Given the description of an element on the screen output the (x, y) to click on. 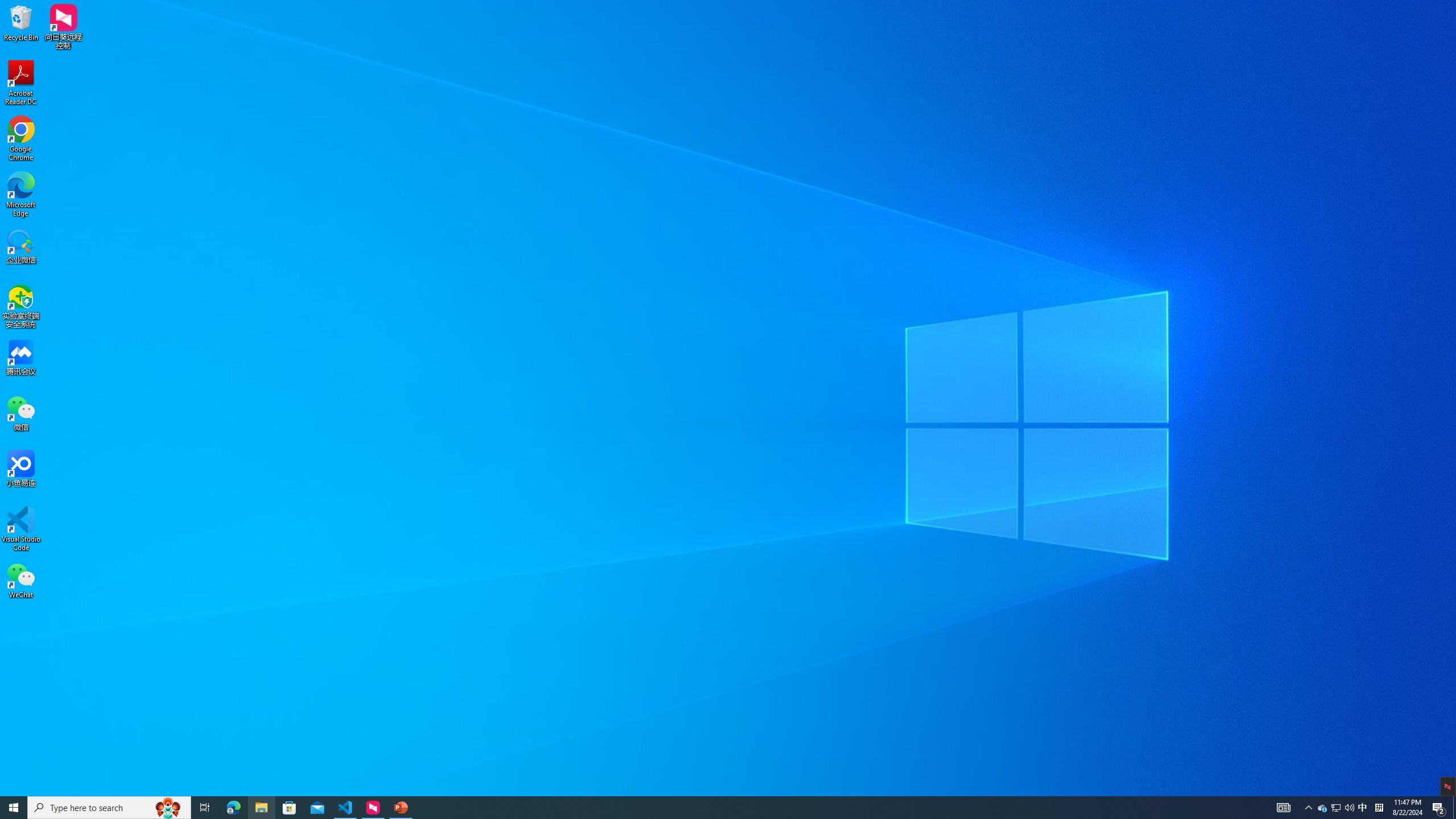
Font... (334, 85)
Section (144, 72)
